Given the description of an element on the screen output the (x, y) to click on. 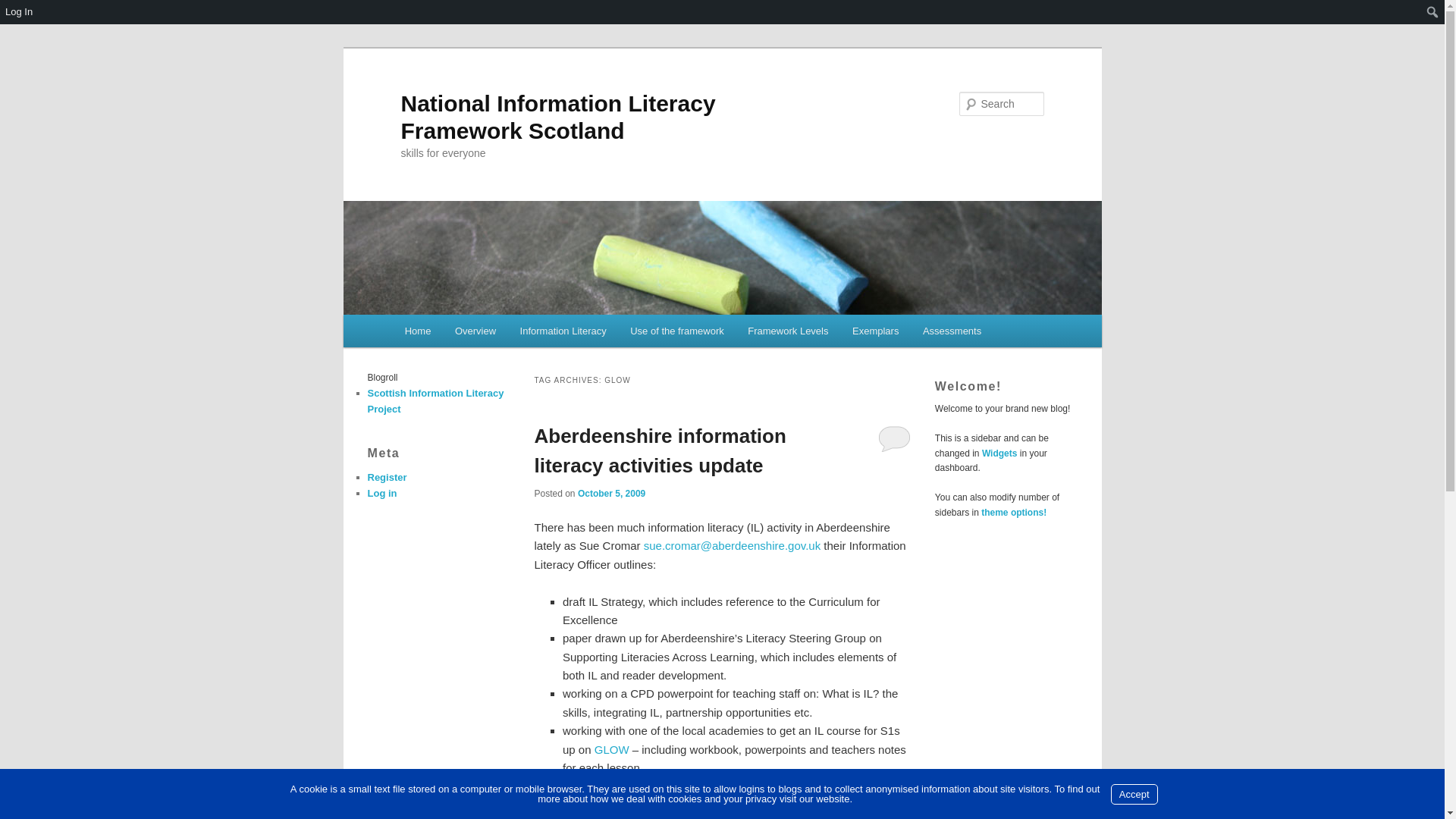
National Information Literacy Framework Scotland (557, 116)
GLOW website (611, 748)
Use of the framework (676, 330)
2:55 am (611, 493)
Overview (475, 330)
Skip to primary content (472, 333)
Information Literacy (563, 330)
Scottish Information Literacy Project (434, 400)
Framework Levels (788, 330)
